Given the description of an element on the screen output the (x, y) to click on. 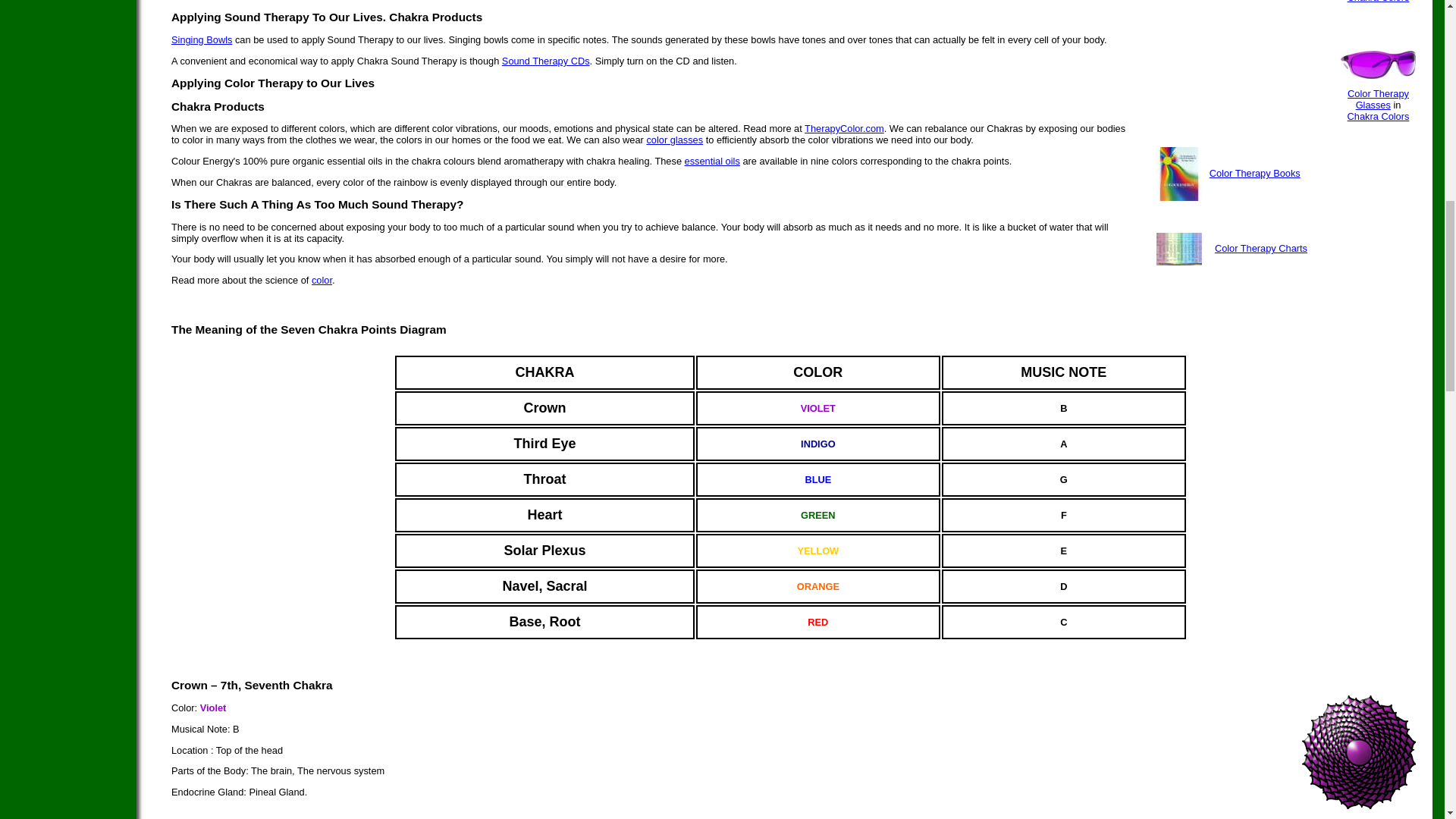
Sound Therapy CDs (545, 60)
Crown Chakra (1358, 805)
Chakra Colors (1378, 116)
TherapyColor.com (844, 128)
Color Therapy Books (1254, 173)
color glasses (674, 139)
essential oils (711, 161)
Singing Bowls (201, 39)
Chakra Colors (1380, 7)
color (321, 279)
